Given the description of an element on the screen output the (x, y) to click on. 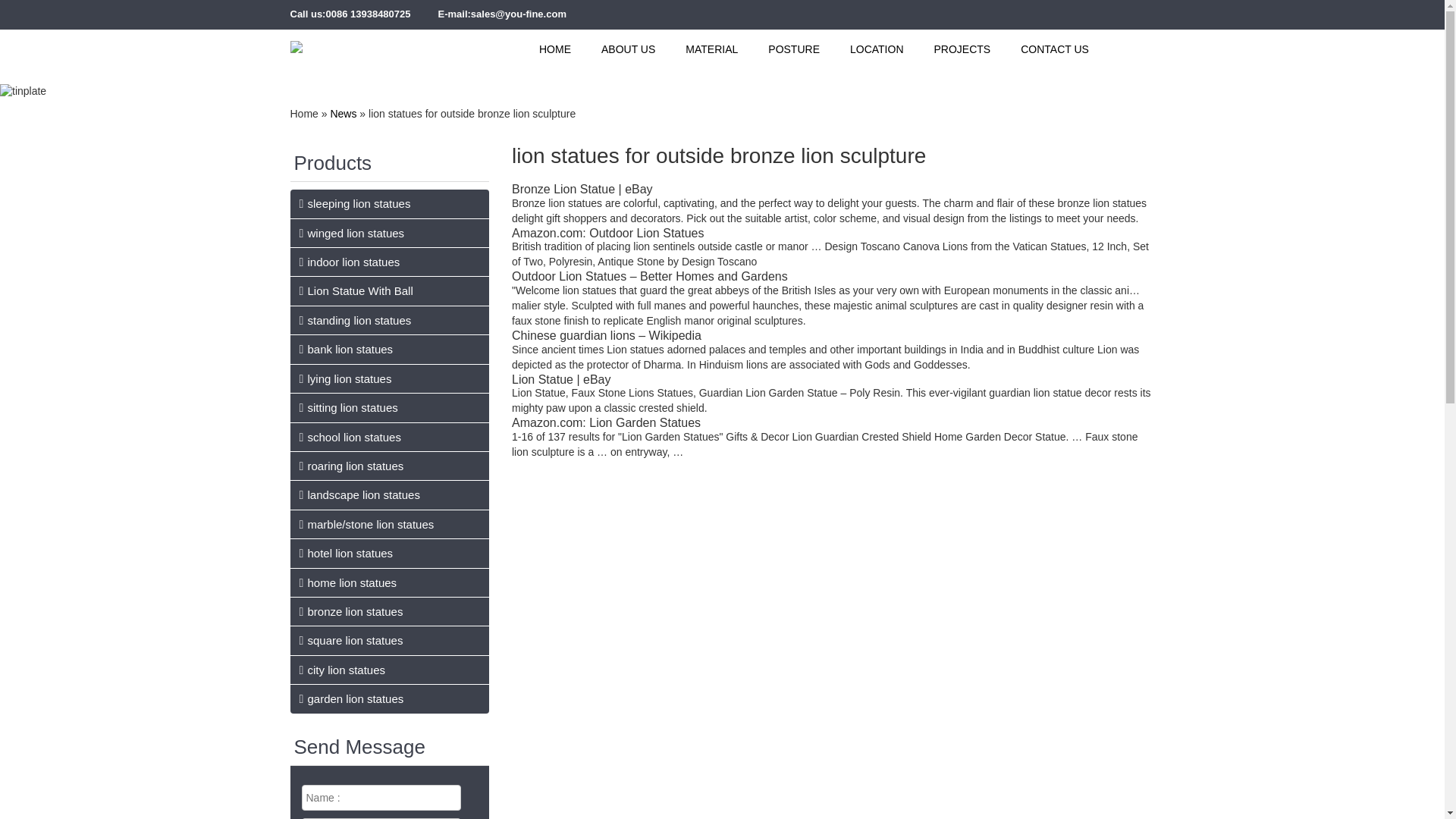
MATERIAL (711, 48)
ABOUT US (627, 48)
school lion statues (347, 436)
lying lion statues (343, 378)
LOCATION (876, 48)
CONTACT US (1054, 48)
logo (295, 39)
HOME (554, 48)
PROJECTS (963, 48)
bank lion statues (344, 349)
roaring lion statues (349, 465)
Lion Statue With Ball (353, 290)
sleeping lion statues (352, 203)
winged lion statues (349, 232)
standing lion statues (352, 319)
